Given the description of an element on the screen output the (x, y) to click on. 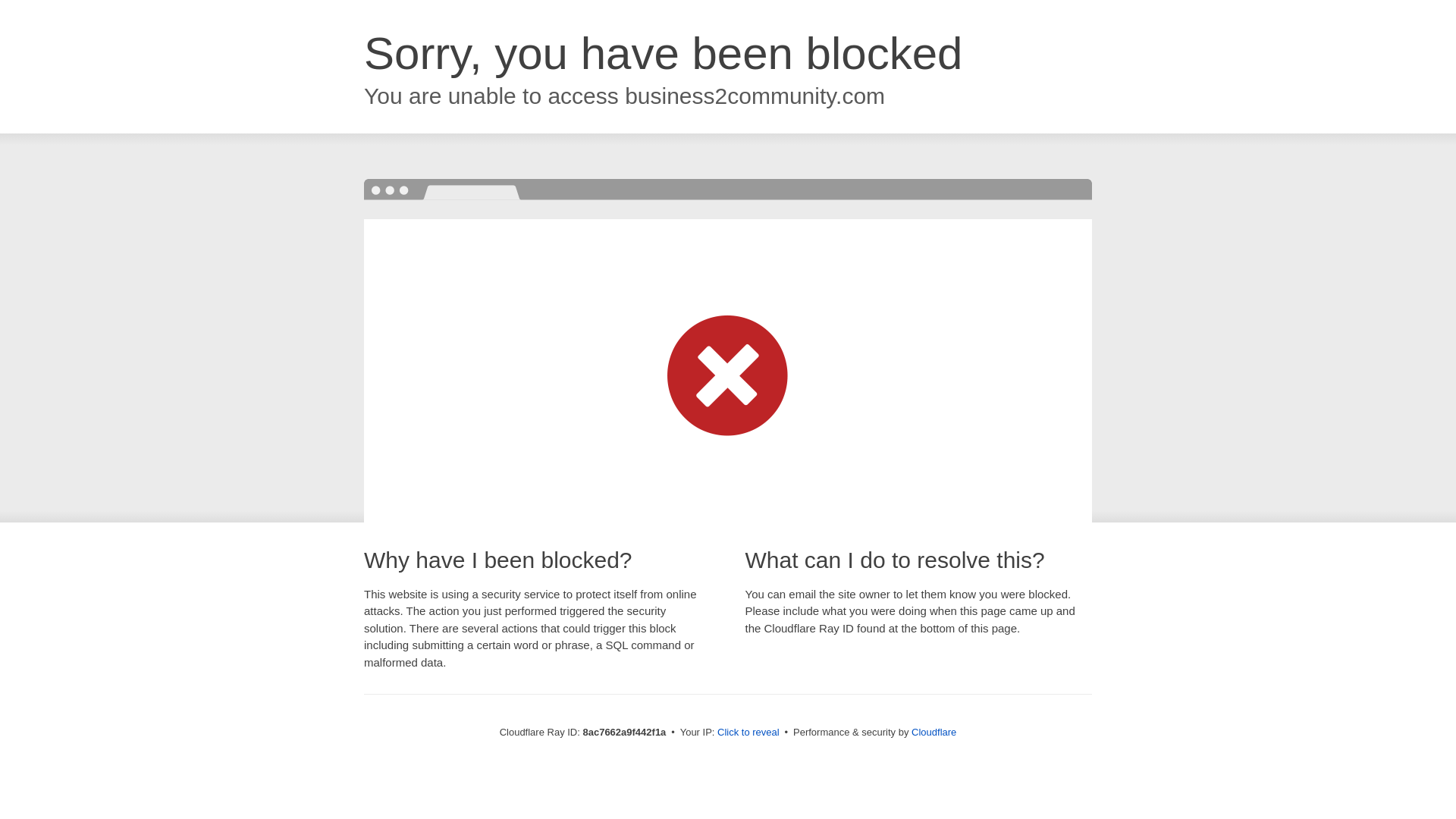
Click to reveal (747, 732)
Cloudflare (933, 731)
